Given the description of an element on the screen output the (x, y) to click on. 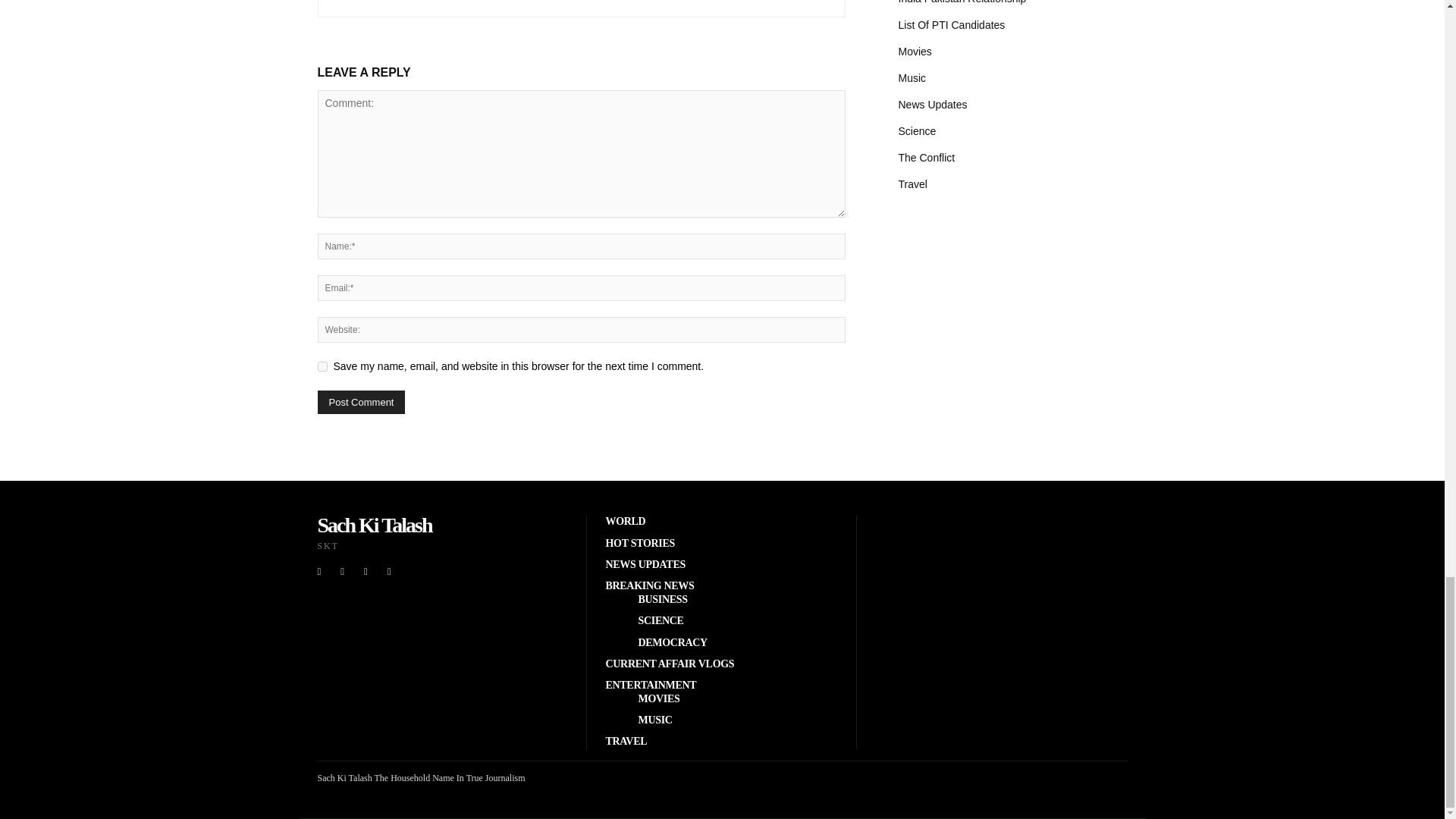
yes (321, 366)
Post Comment (360, 402)
